Given the description of an element on the screen output the (x, y) to click on. 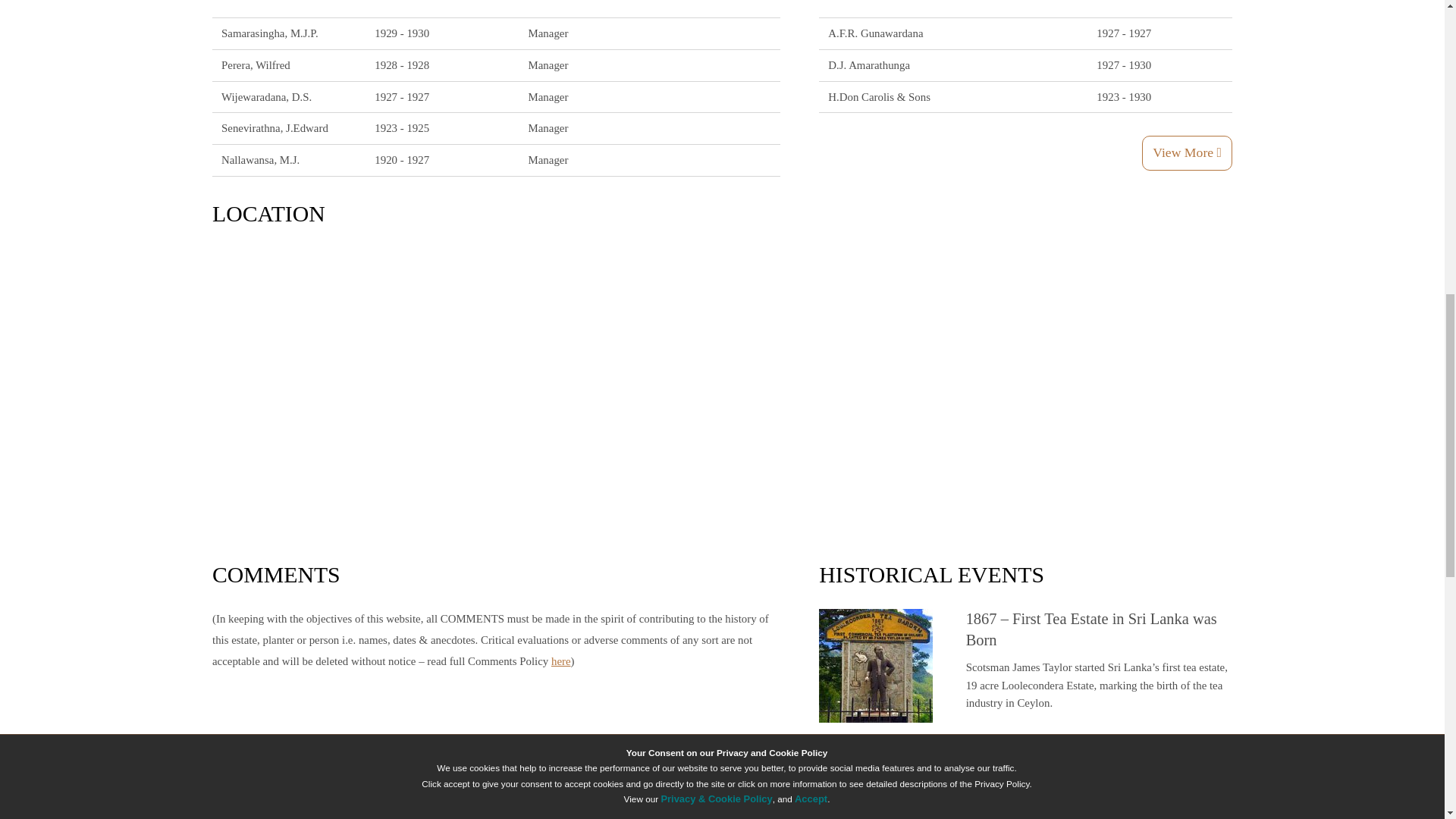
Wijewaradana, D.S. (266, 96)
Nallawansa, M.J. (260, 159)
View More (1186, 152)
Perera, Wilfred (255, 64)
Senevirathna, J.Edward (275, 128)
Samarasingha, M.J.P. (269, 33)
